Given the description of an element on the screen output the (x, y) to click on. 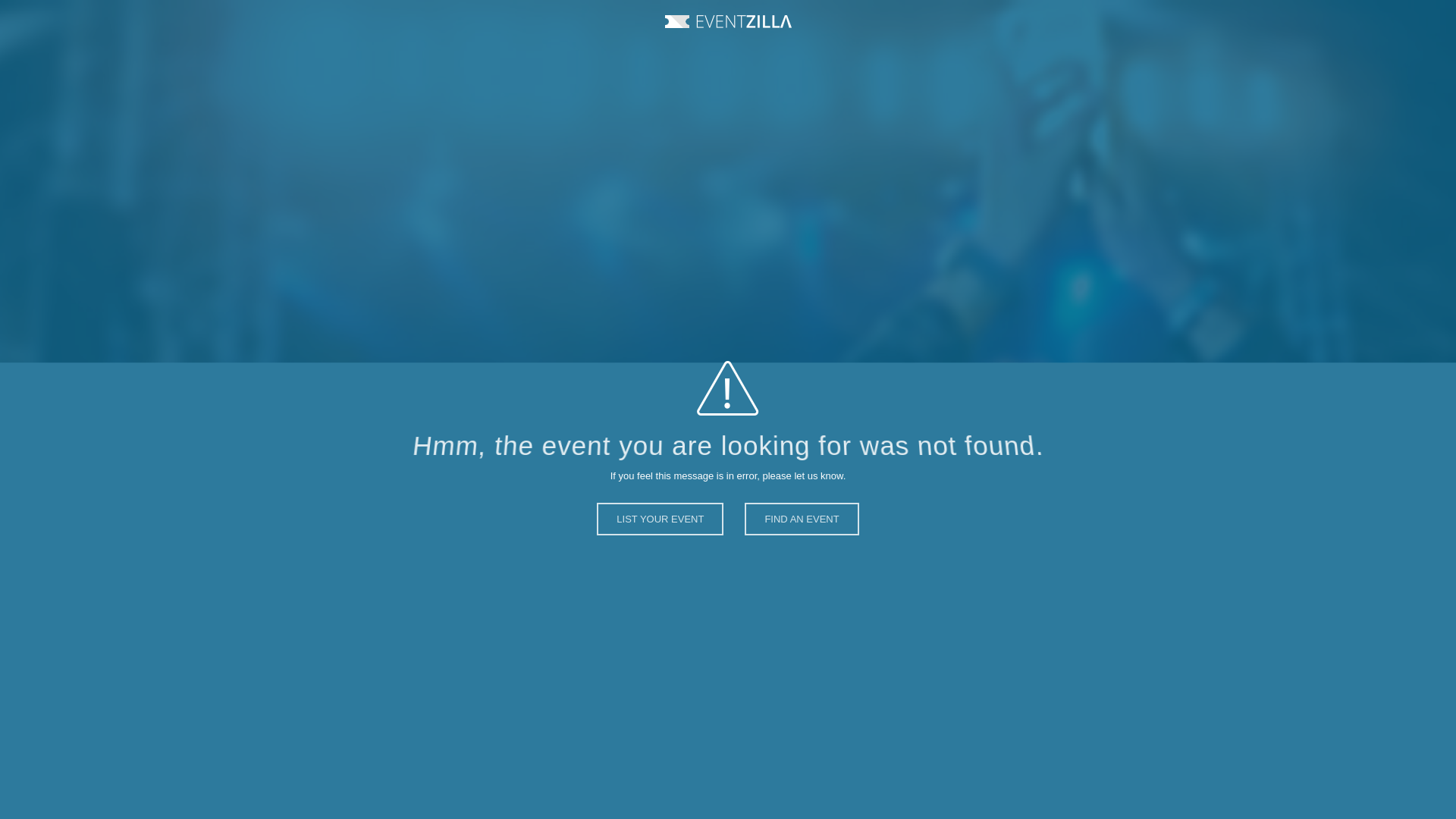
LIST YOUR EVENT (659, 533)
Eventzilla (726, 21)
Event Zilla (726, 21)
FIND AN EVENT (801, 532)
